Given the description of an element on the screen output the (x, y) to click on. 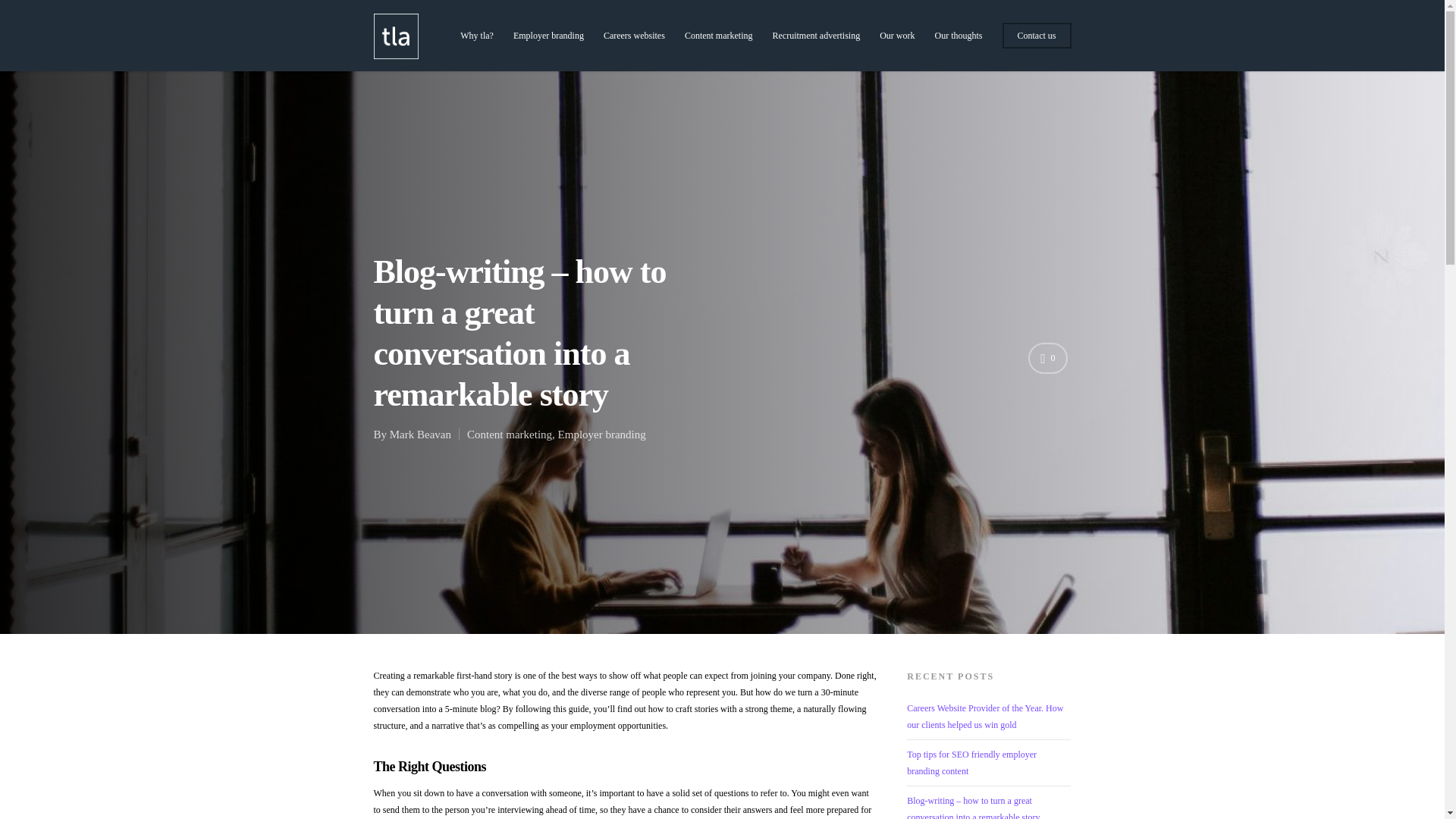
Recruitment advertising (816, 42)
Employer branding (601, 434)
Contact us (1037, 42)
Employer branding (548, 42)
Content marketing (509, 434)
Careers websites (634, 42)
Content marketing (718, 42)
Top tips for SEO friendly employer branding content (971, 762)
Posts by Mark Beavan (420, 434)
